Given the description of an element on the screen output the (x, y) to click on. 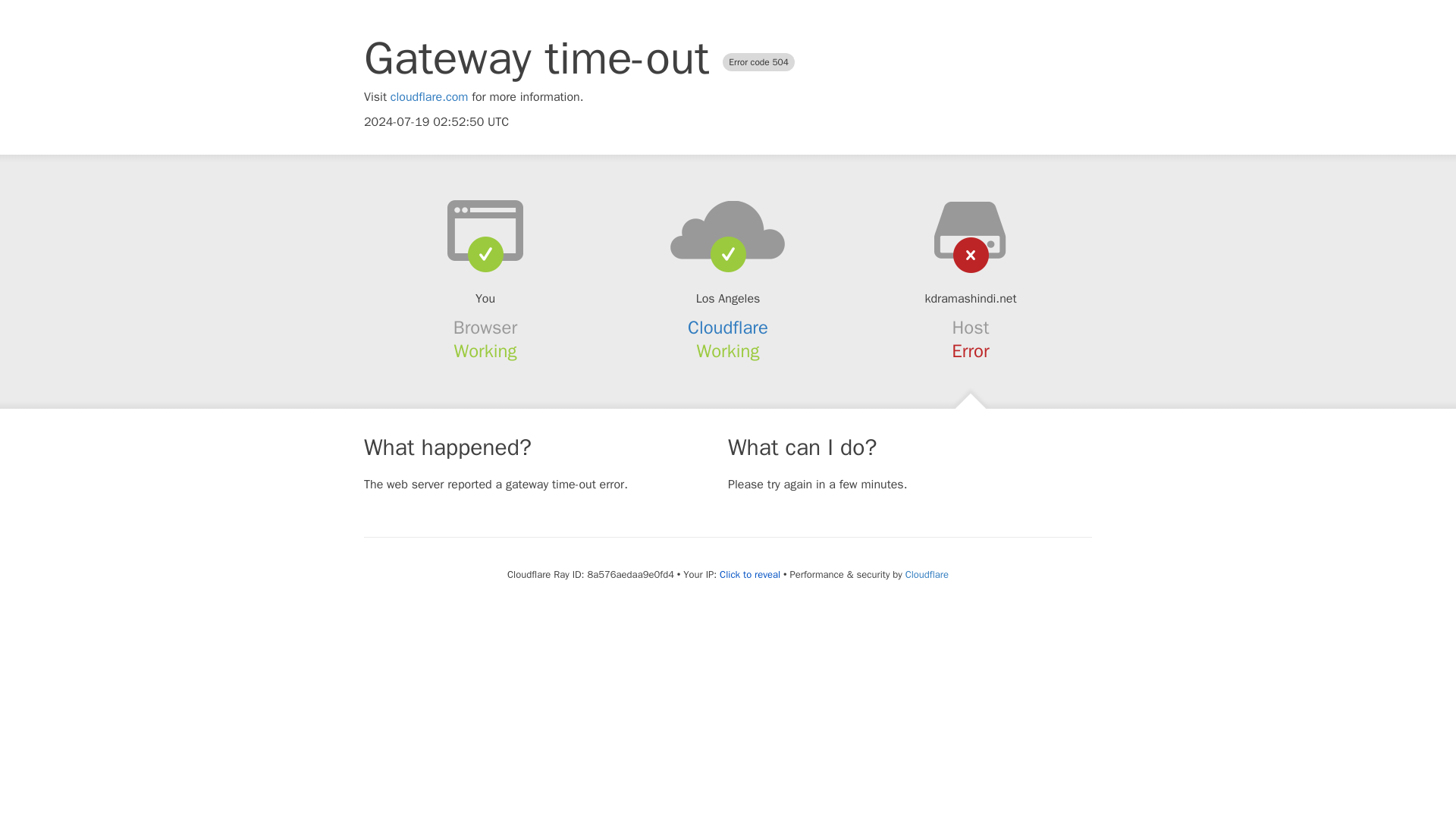
Cloudflare (727, 327)
cloudflare.com (429, 96)
Click to reveal (749, 574)
Cloudflare (927, 574)
